Given the description of an element on the screen output the (x, y) to click on. 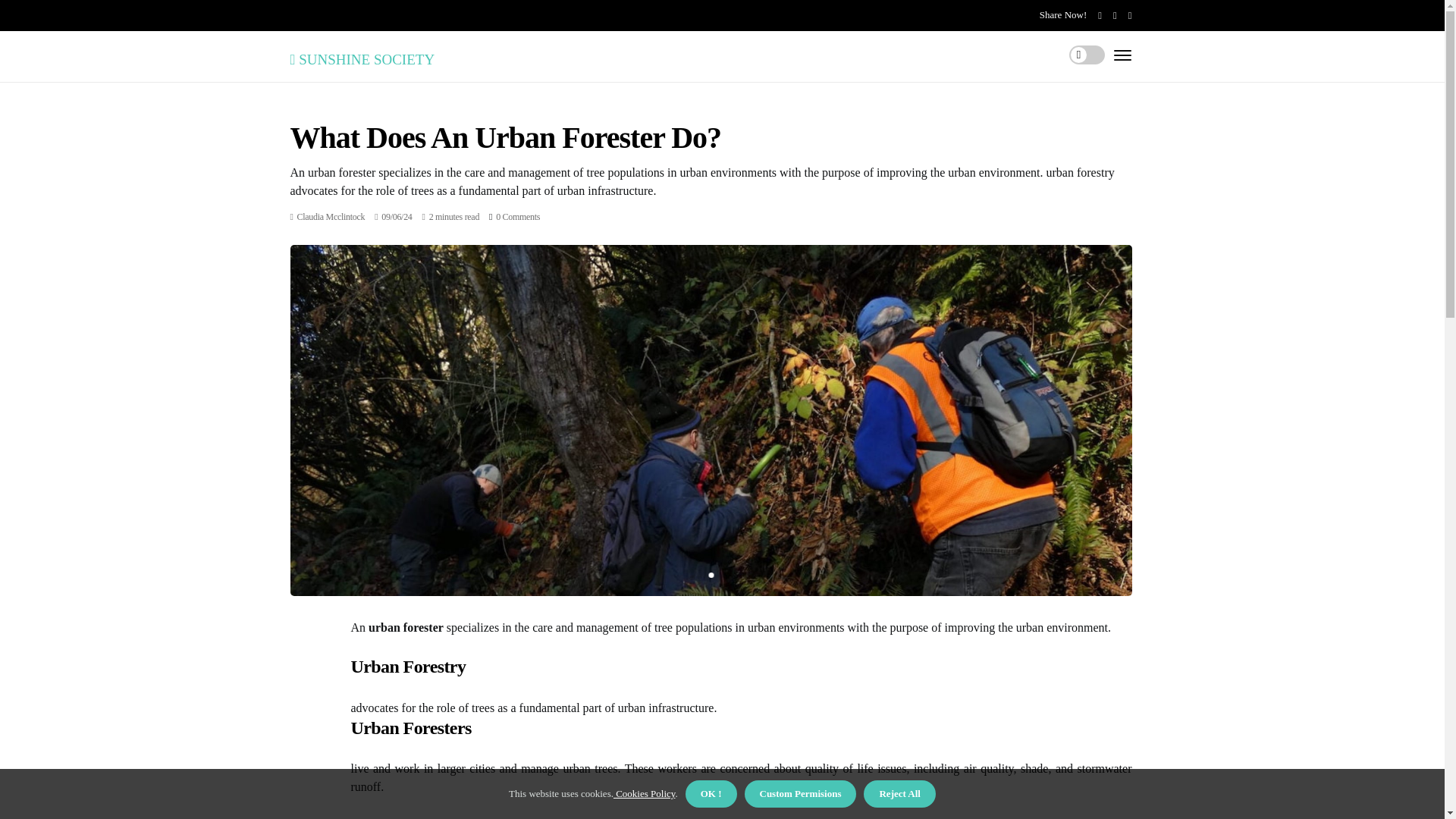
Claudia Mcclintock (331, 216)
1 (710, 575)
0 Comments (518, 216)
Posts by Claudia Mcclintock (331, 216)
Sunshine Society (361, 56)
